Given the description of an element on the screen output the (x, y) to click on. 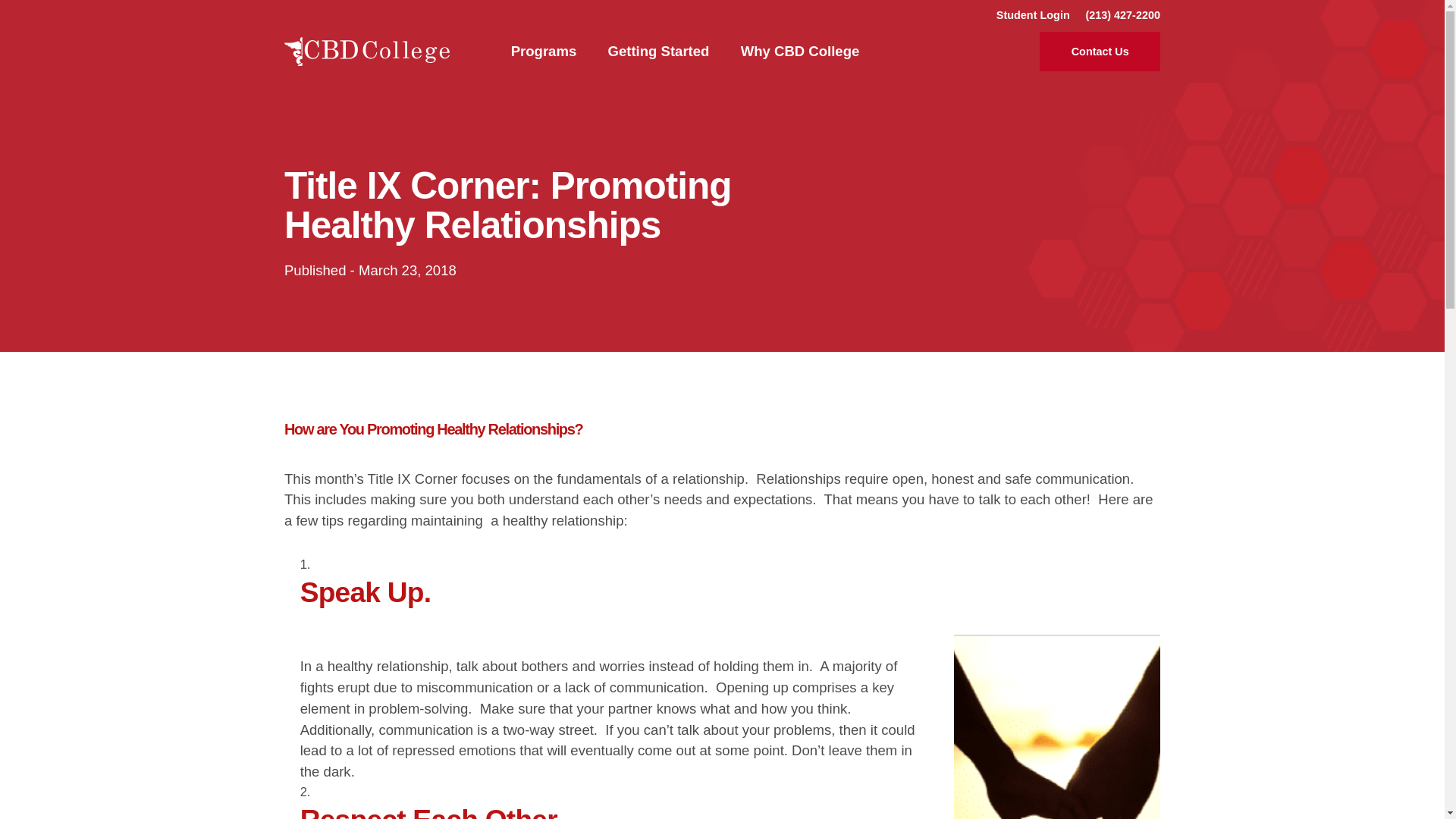
Student Login (1032, 15)
Programs (543, 50)
Getting Started (658, 50)
CBD College (366, 51)
